Given the description of an element on the screen output the (x, y) to click on. 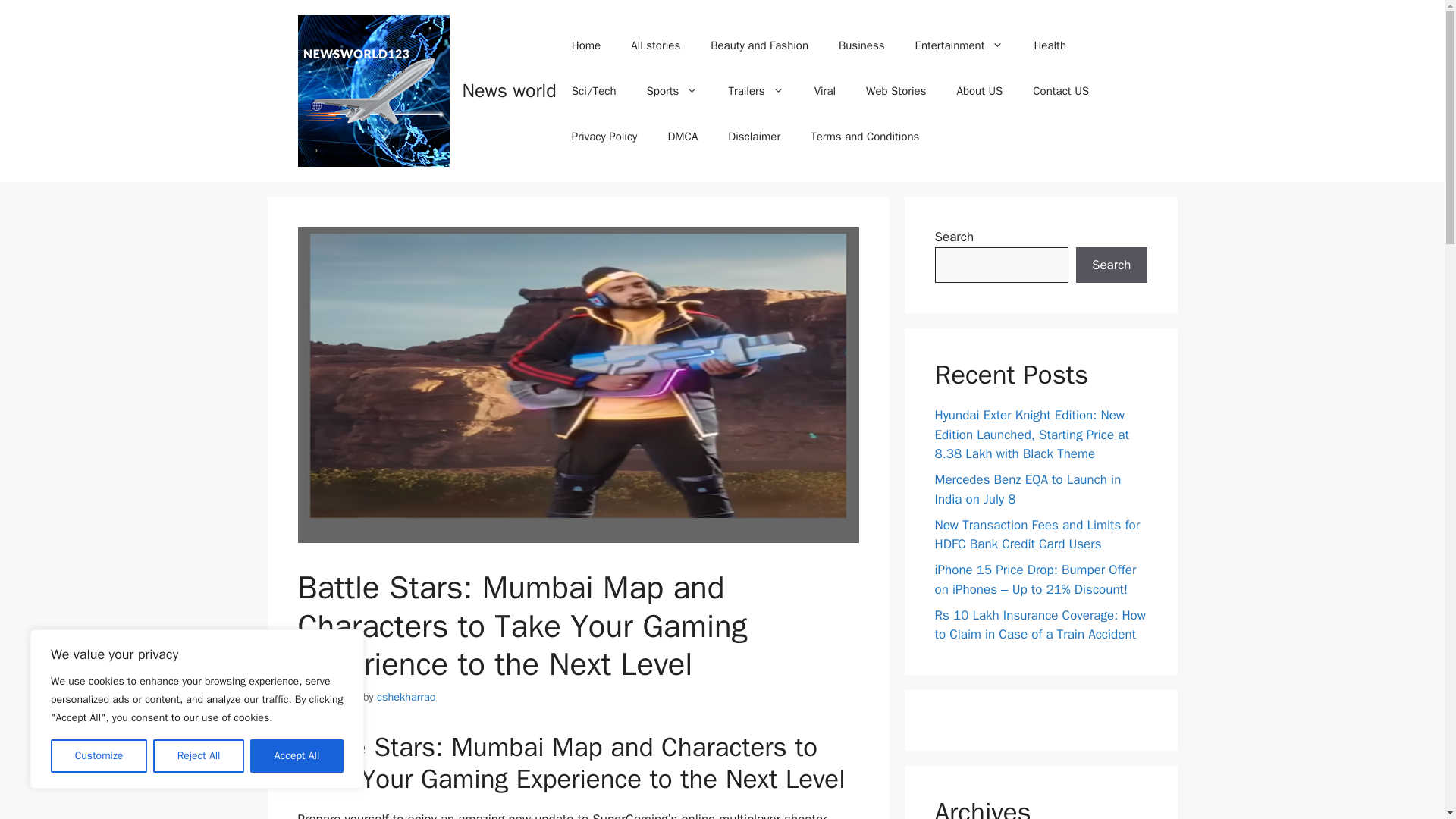
Trailers (755, 90)
Web Stories (895, 90)
Business (861, 44)
Beauty and Fashion (759, 44)
Accept All (296, 756)
Home (585, 44)
All stories (655, 44)
Viral (824, 90)
News world (509, 90)
View all posts by cshekharrao (406, 696)
About US (978, 90)
Reject All (198, 756)
Disclaimer (753, 135)
Entertainment (959, 44)
Terms and Conditions (864, 135)
